Given the description of an element on the screen output the (x, y) to click on. 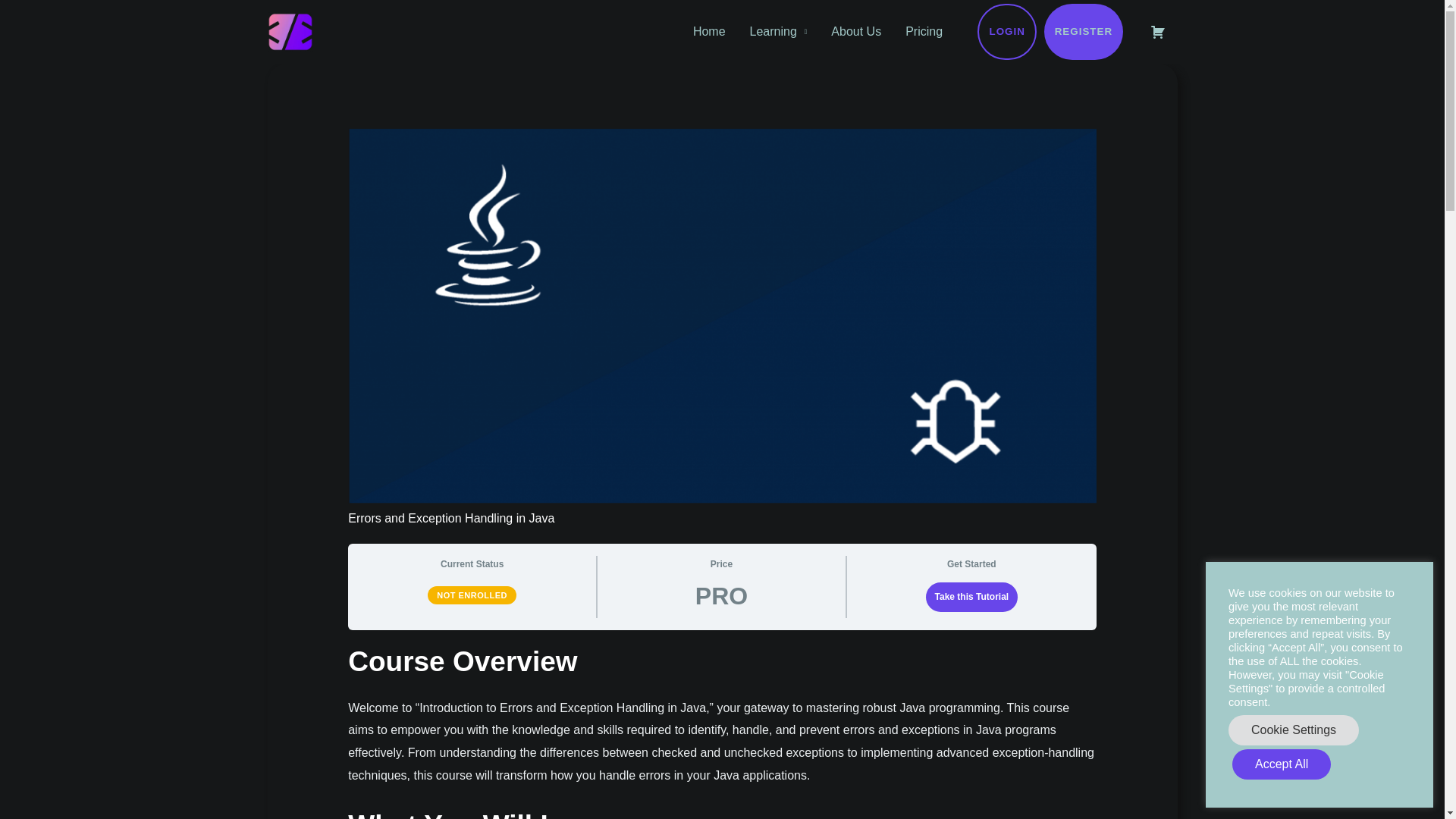
Learning (778, 31)
REGISTER (1082, 31)
Take this Tutorial (971, 596)
Become part of us (1082, 31)
Home (709, 31)
About Us (855, 31)
LOGIN (1006, 31)
Pricing (924, 31)
